Given the description of an element on the screen output the (x, y) to click on. 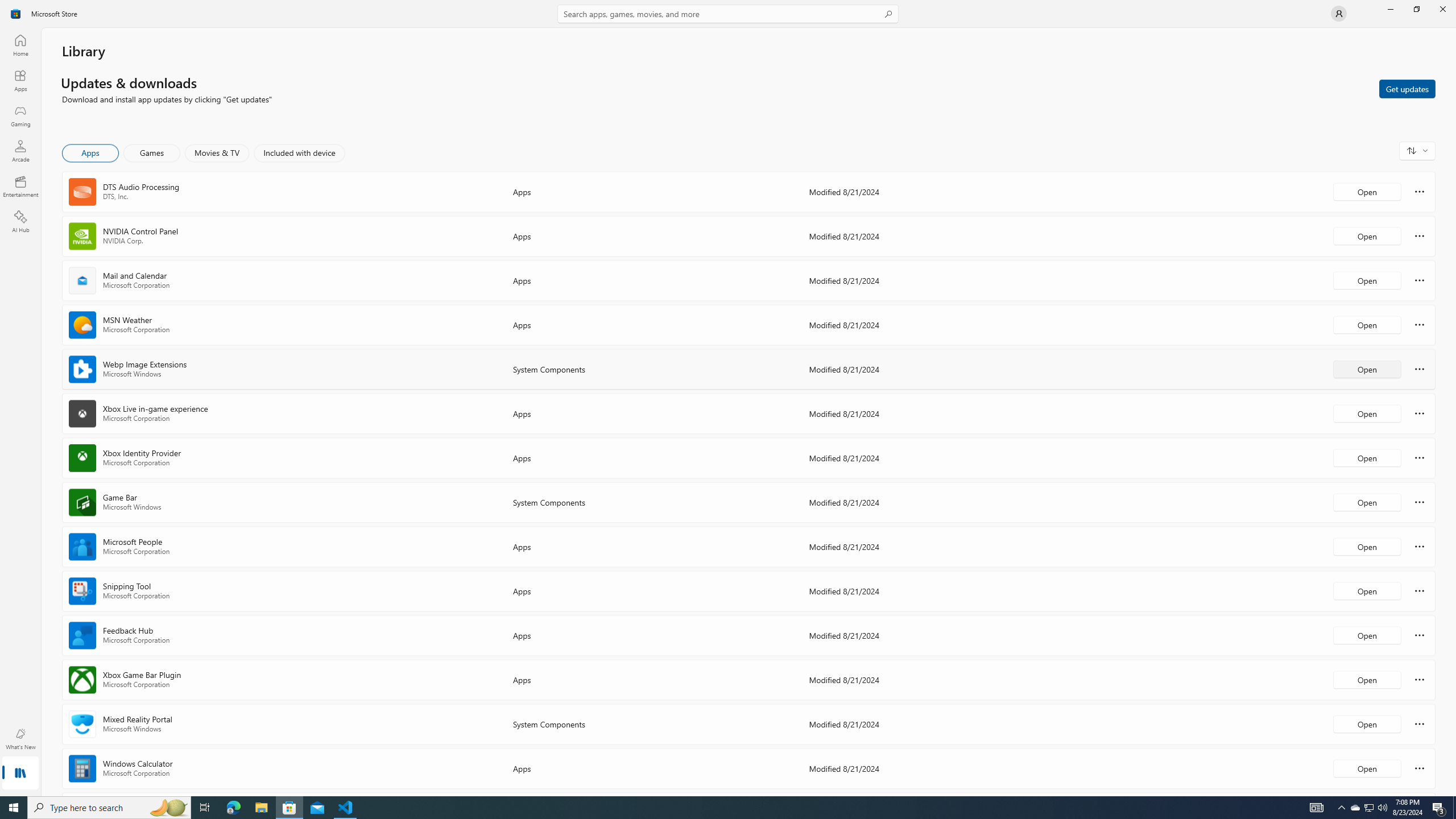
Sort and filter (1417, 149)
AutomationID: NavigationControl (728, 398)
Games (151, 153)
Open (1366, 768)
Get updates (1406, 88)
Included with device (299, 153)
More options (1419, 768)
